Given the description of an element on the screen output the (x, y) to click on. 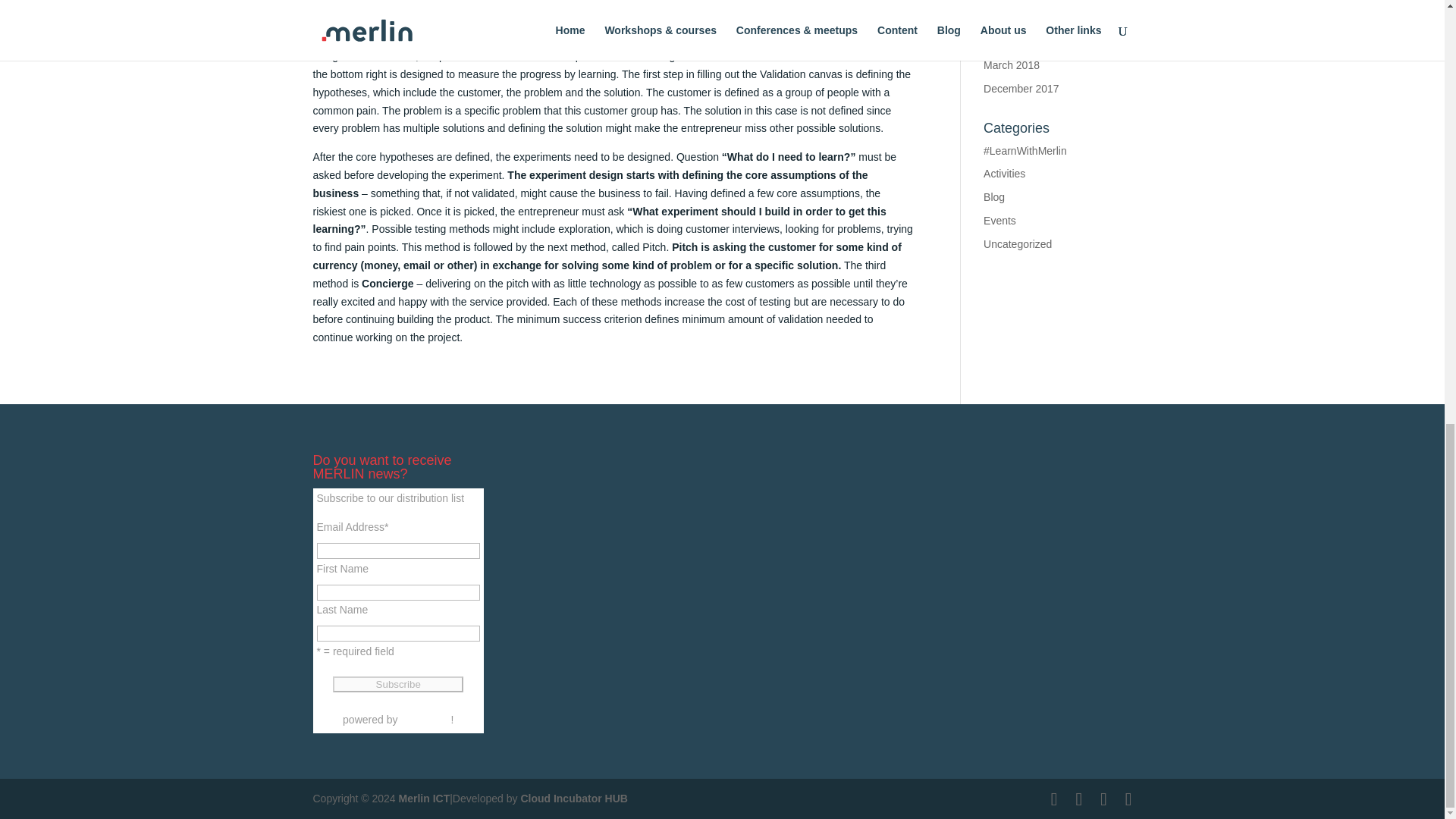
May 2018 (1006, 18)
April 2018 (1007, 41)
December 2017 (1021, 88)
June 2018 (1008, 0)
March 2018 (1011, 64)
Subscribe (398, 684)
